Given the description of an element on the screen output the (x, y) to click on. 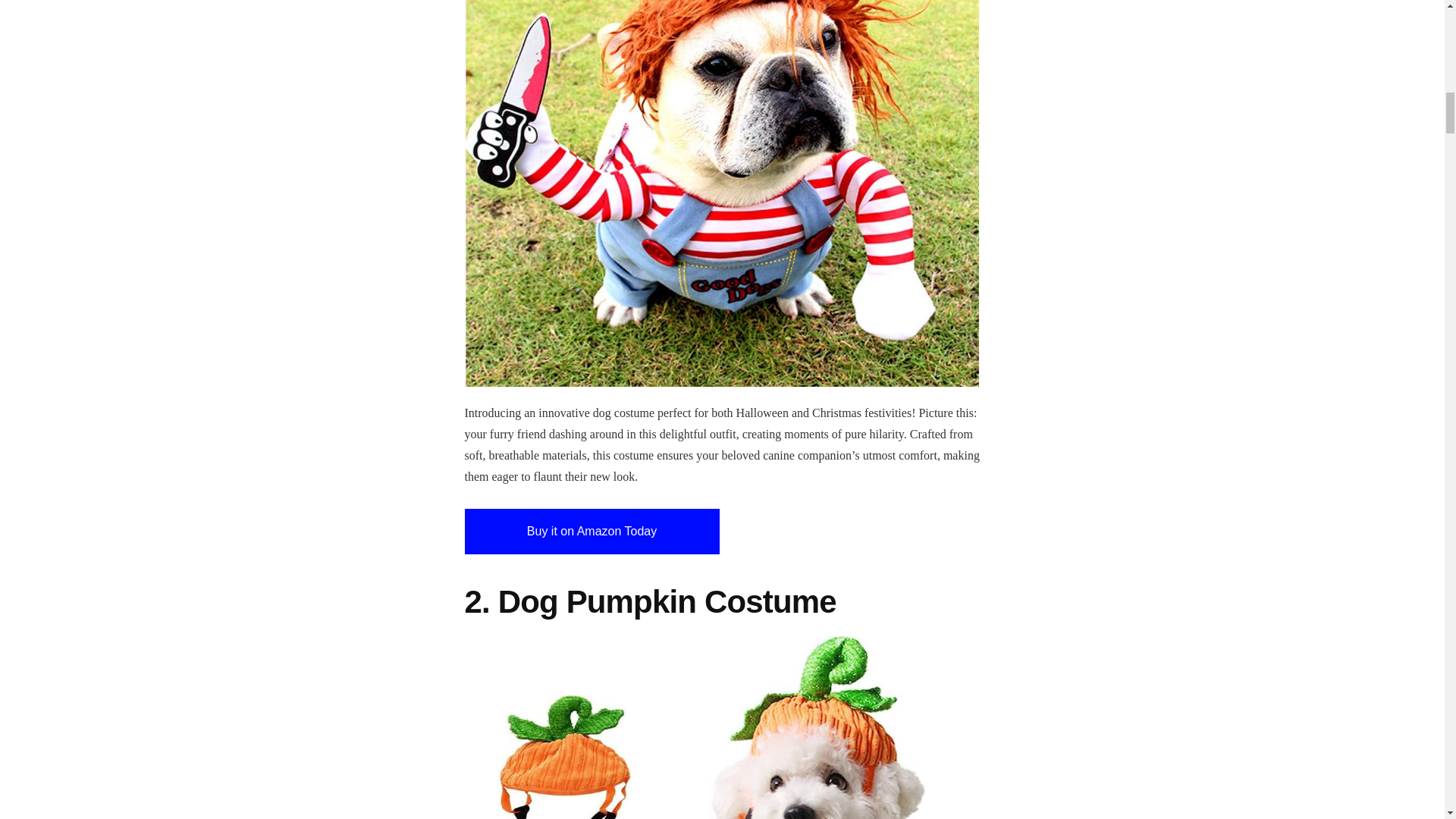
Buy it on Amazon Today (591, 531)
